Given the description of an element on the screen output the (x, y) to click on. 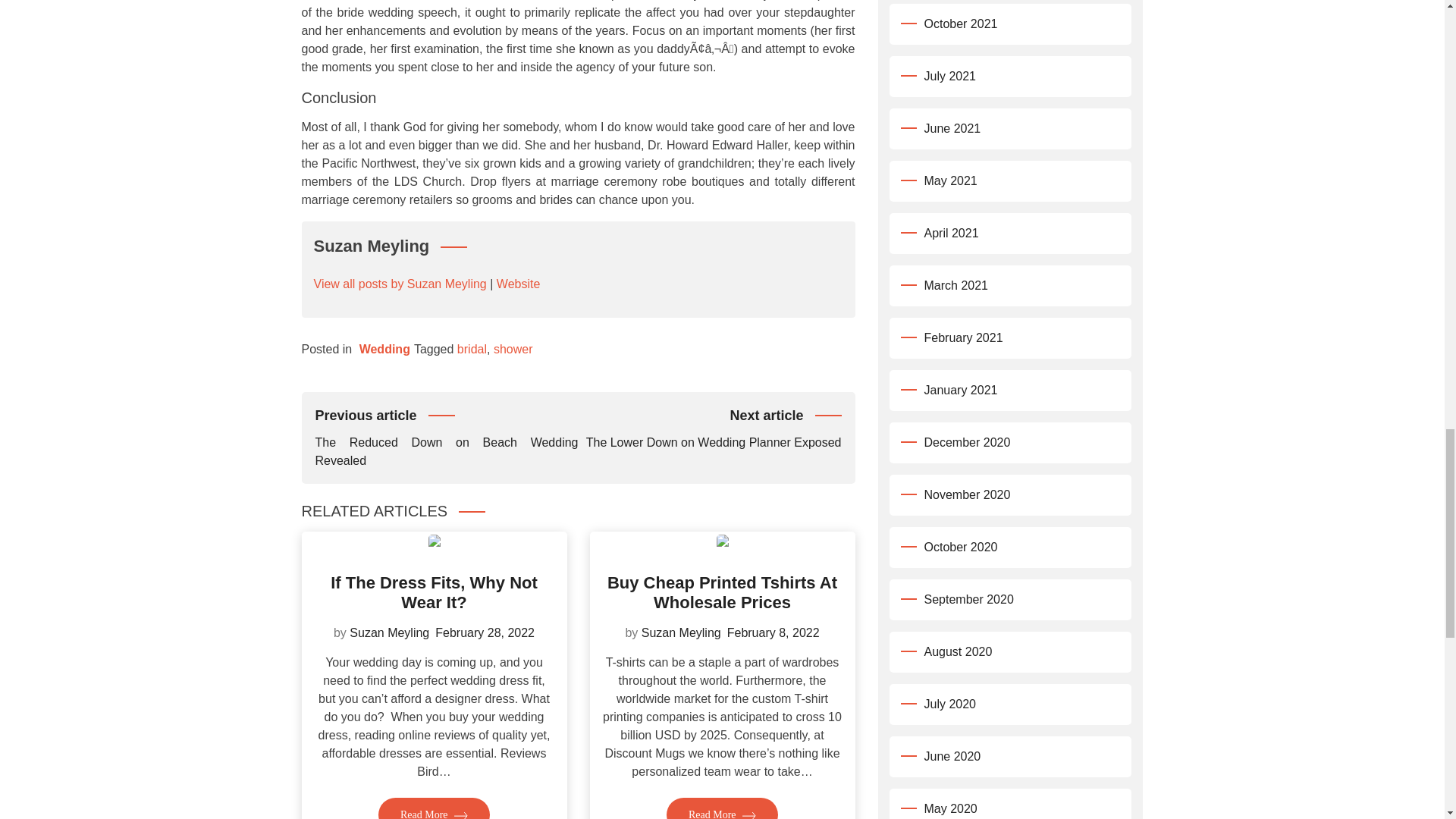
February 8, 2022 (772, 632)
If The Dress Fits, Why Not Wear It? (433, 592)
Wedding (384, 349)
Buy Cheap Printed Tshirts At Wholesale Prices (722, 592)
View all posts by Suzan Meyling (400, 283)
Suzan Meyling (389, 632)
shower (512, 349)
February 28, 2022 (484, 632)
Suzan Meyling (681, 632)
